Given the description of an element on the screen output the (x, y) to click on. 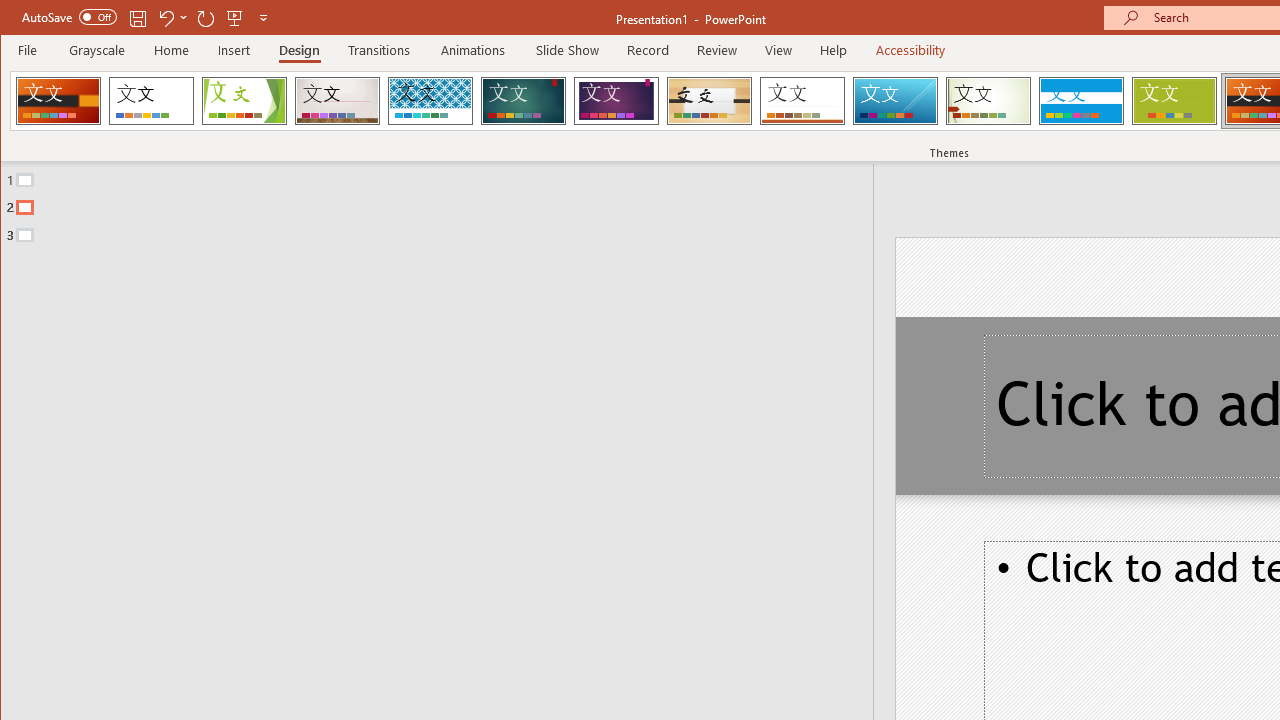
Banded (1081, 100)
